Given the description of an element on the screen output the (x, y) to click on. 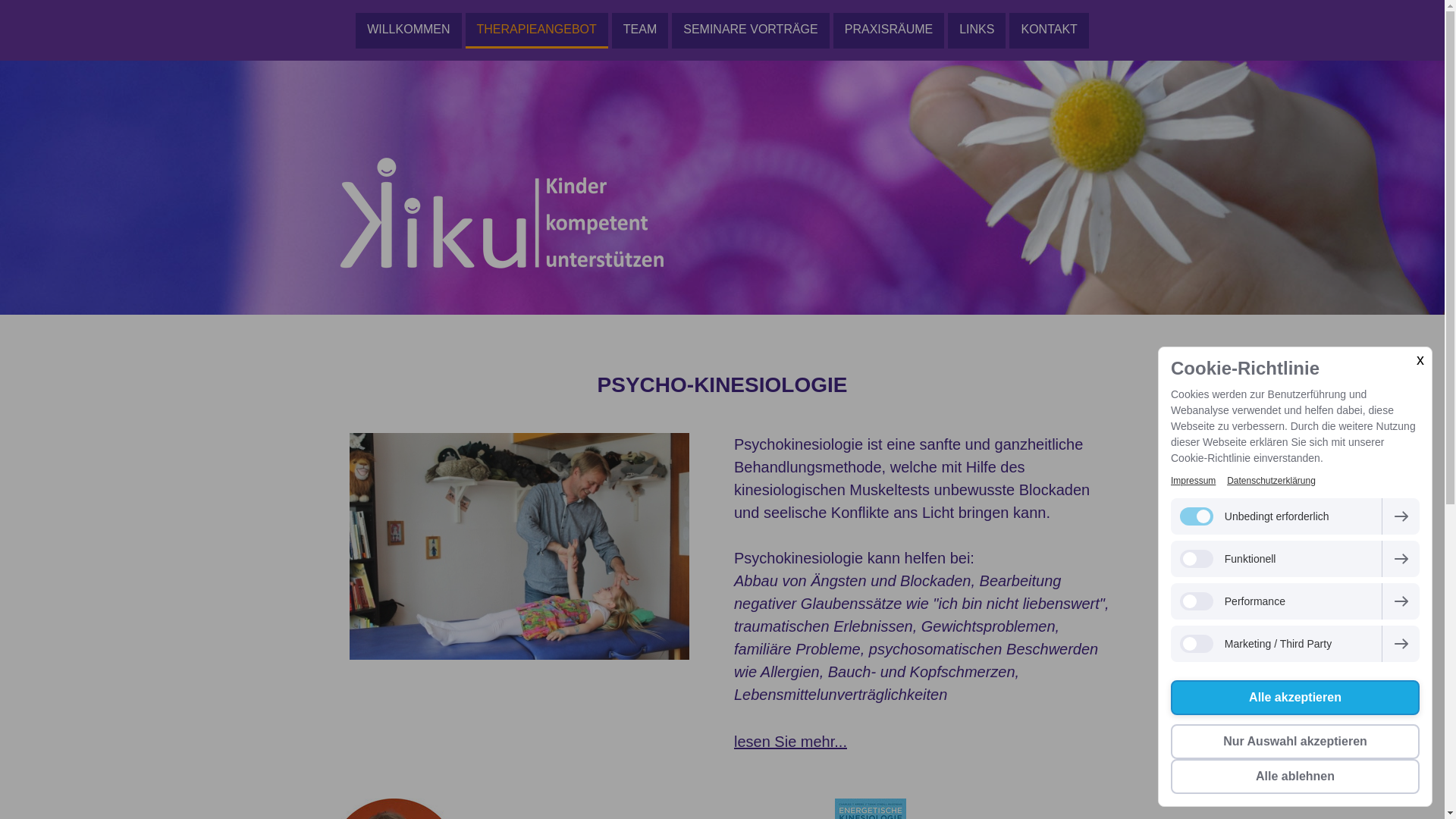
Alle ablehnen Element type: text (1294, 776)
LINKS Element type: text (976, 29)
Impressum Element type: text (1192, 480)
Nur Auswahl akzeptieren Element type: text (1294, 741)
KONTAKT Element type: text (1048, 29)
Alle akzeptieren Element type: text (1294, 697)
TEAM Element type: text (639, 29)
WILLKOMMEN Element type: text (408, 29)
Kinesiologie Element type: text (438, 336)
THERAPIEANGEBOT Element type: text (536, 29)
Therapieangebot Element type: text (363, 336)
lesen Sie mehr... Element type: text (790, 740)
